Given the description of an element on the screen output the (x, y) to click on. 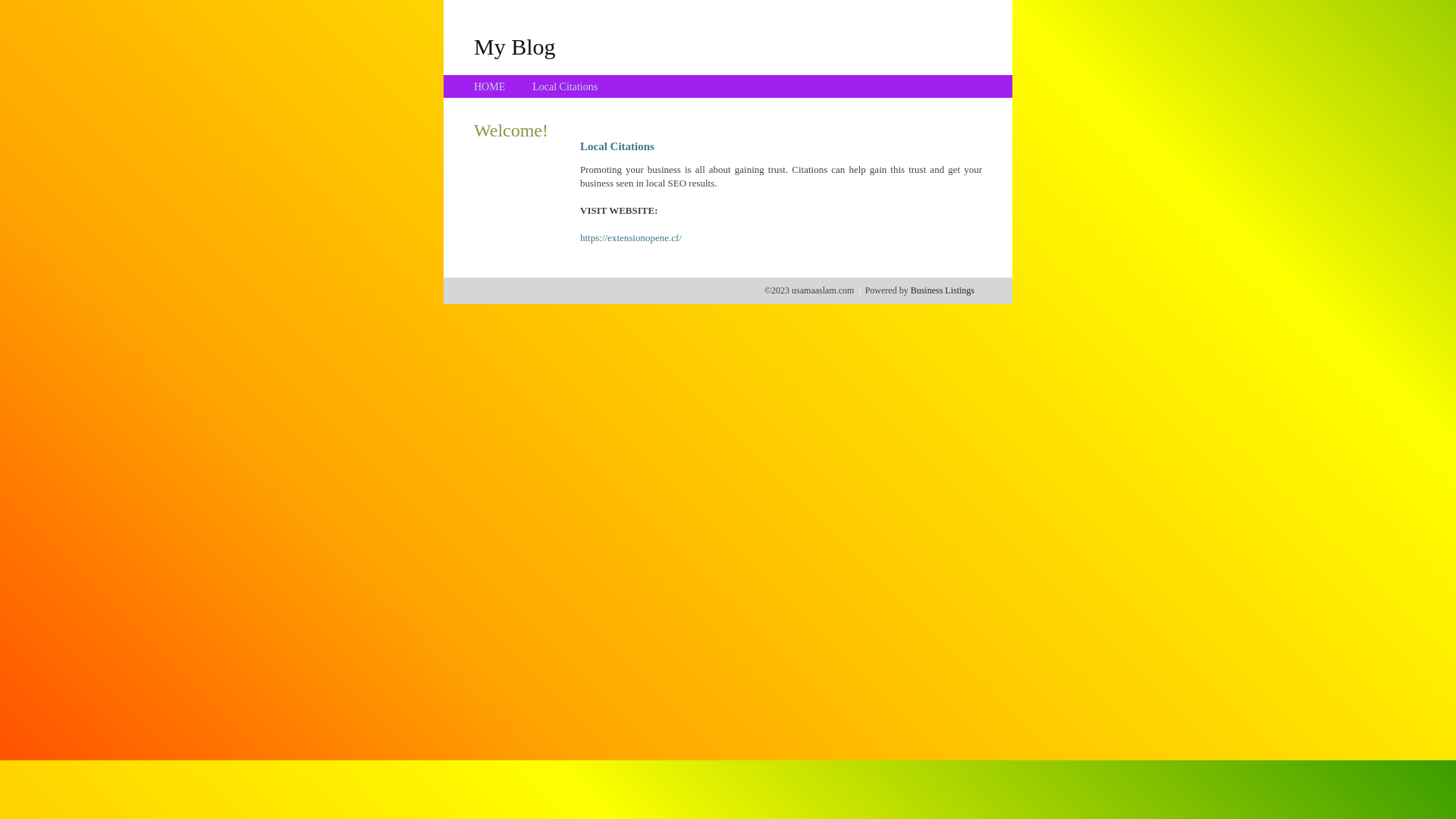
Local Citations Element type: text (564, 86)
https://extensionopene.cf/ Element type: text (630, 237)
My Blog Element type: text (514, 46)
Business Listings Element type: text (942, 290)
HOME Element type: text (489, 86)
